Given the description of an element on the screen output the (x, y) to click on. 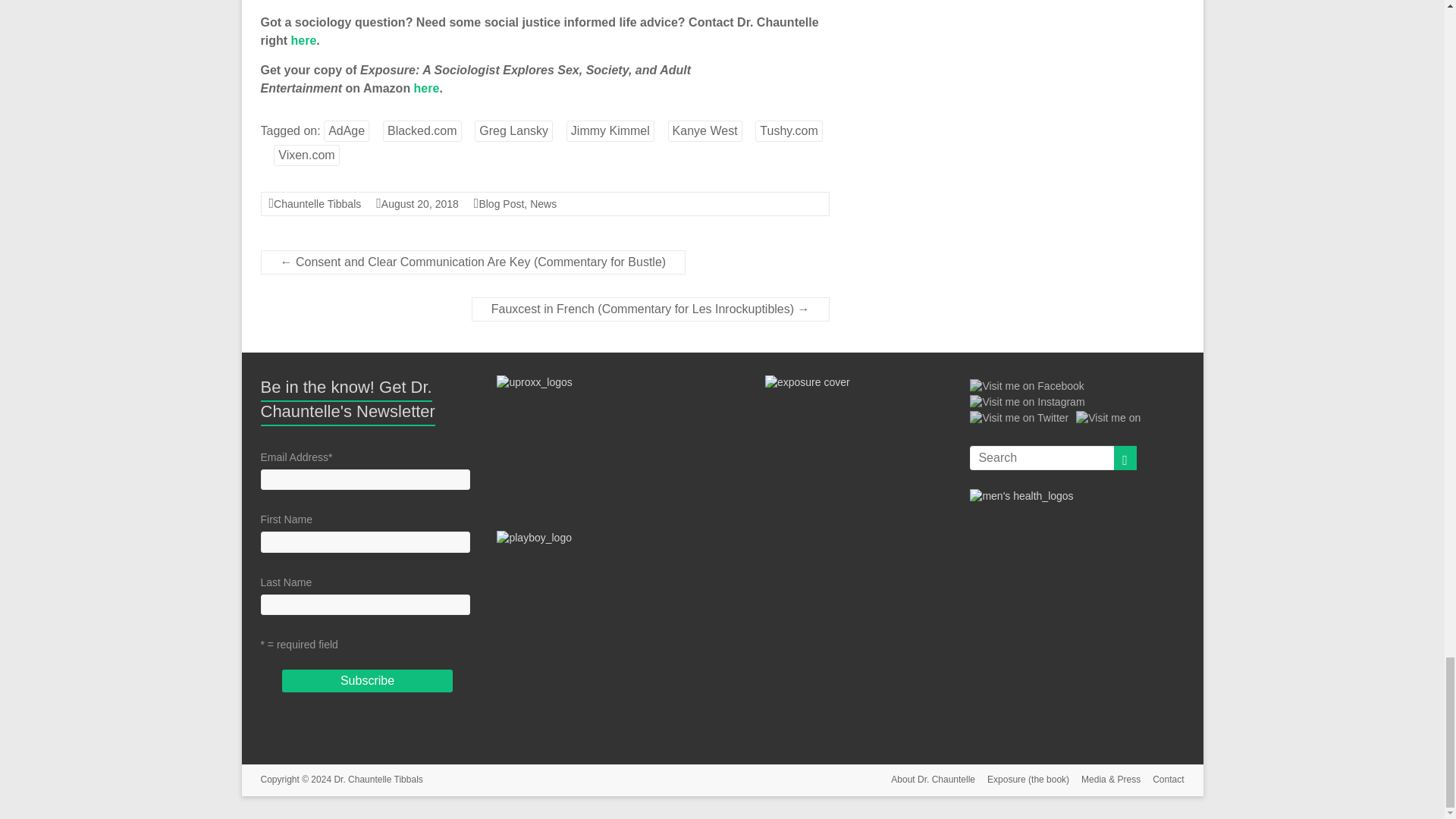
Visit me on Instagram (1026, 401)
AdAge (346, 130)
News (542, 203)
Jimmy Kimmel (609, 130)
6:59 am (419, 203)
Chauntelle Tibbals (317, 203)
Dr. Chauntelle Tibbals (377, 778)
Kanye West (705, 130)
here (304, 40)
Blog Post (501, 203)
